Given the description of an element on the screen output the (x, y) to click on. 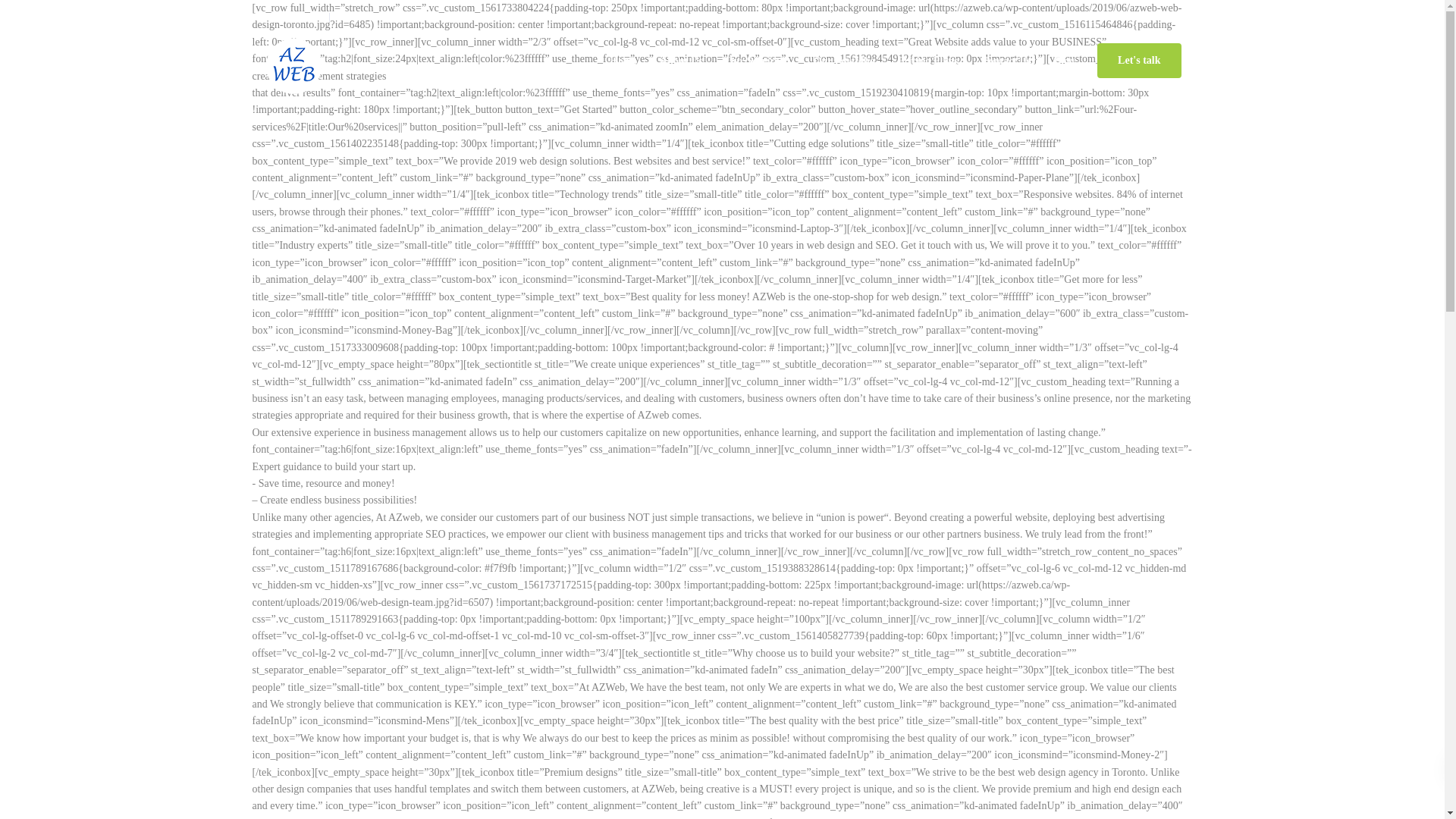
About Us (680, 60)
Our Services (757, 60)
About Us (680, 60)
Contact Us (1005, 60)
Our Portfolio (844, 60)
Contact Us (1005, 60)
Register (1131, 17)
Home (622, 60)
Home (622, 60)
Let's talk (1138, 60)
Our Portfolio (844, 60)
Pricing Plans (927, 60)
Our Services (757, 60)
Log in (1092, 17)
Pricing Plans (927, 60)
